Given the description of an element on the screen output the (x, y) to click on. 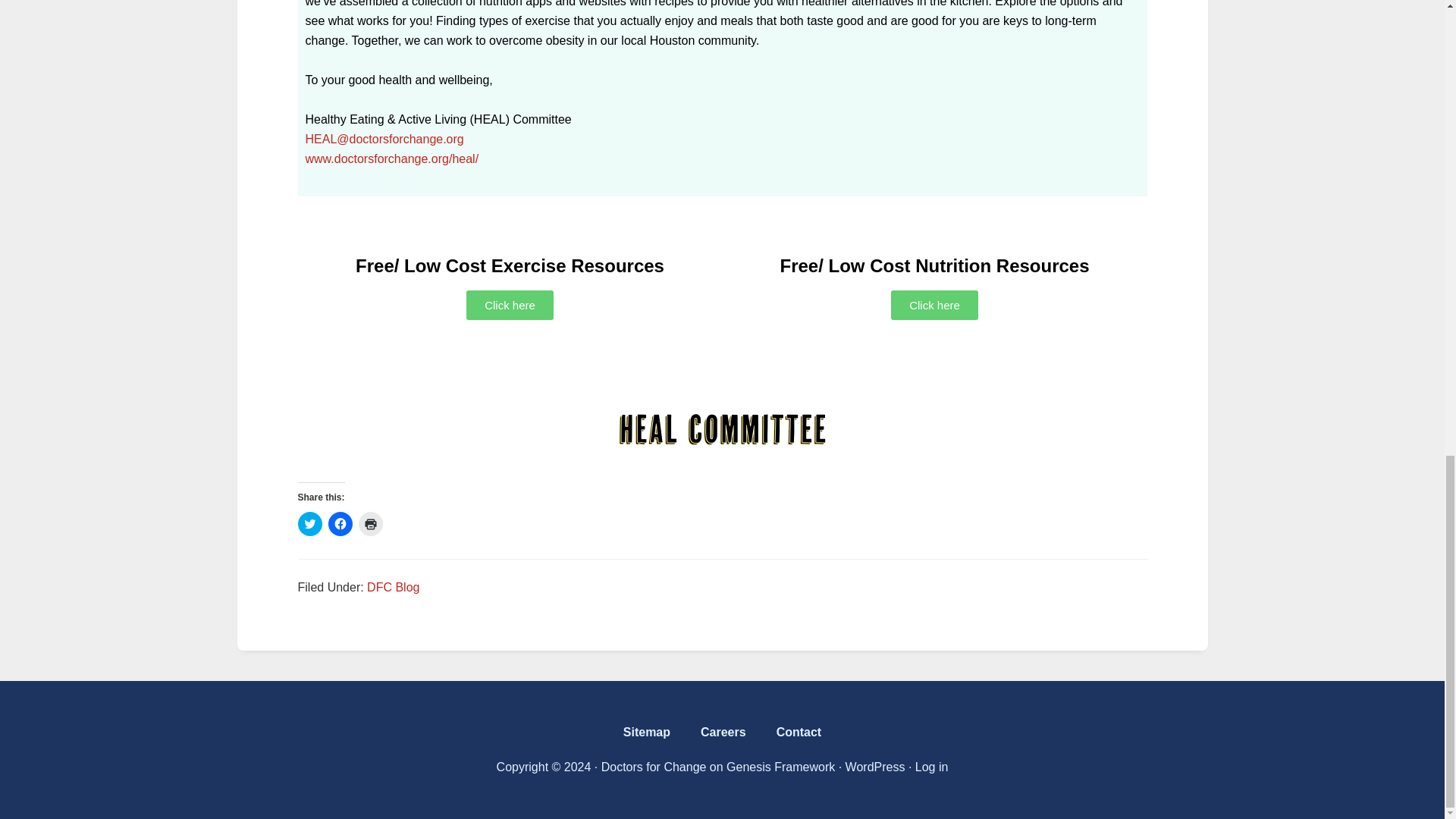
Click to share on Facebook (339, 523)
Click to share on Twitter (309, 523)
Click here (934, 305)
Click to print (369, 523)
Click here (509, 305)
